Given the description of an element on the screen output the (x, y) to click on. 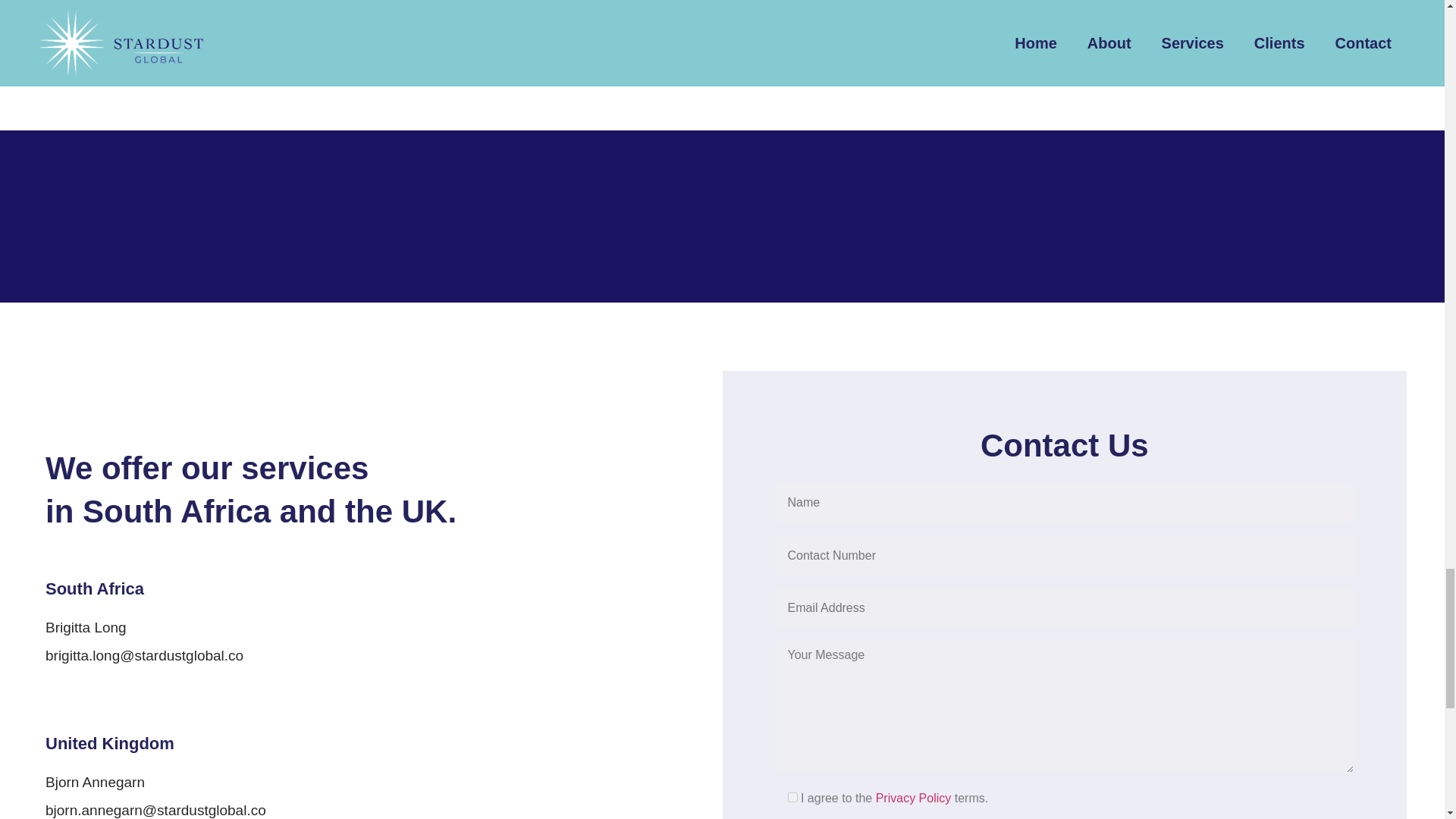
1 (791, 797)
Privacy Policy (914, 797)
